Given the description of an element on the screen output the (x, y) to click on. 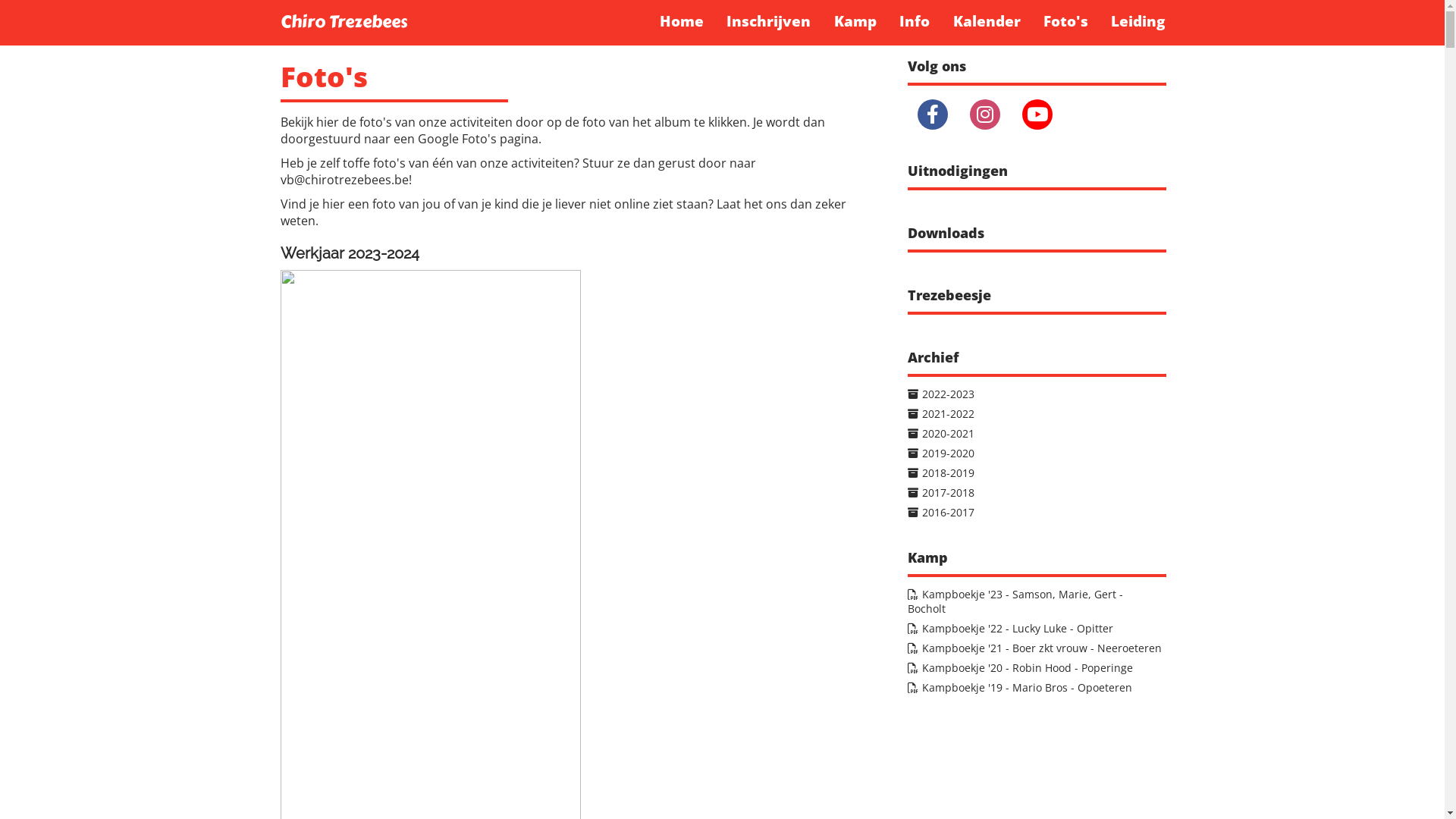
Home Element type: text (681, 21)
2016-2017 Element type: text (722, 511)
2020-2021 Element type: text (722, 432)
Foto's Element type: text (1065, 21)
Kalender Element type: text (986, 21)
Kamp Element type: text (855, 21)
2021-2022 Element type: text (722, 413)
2017-2018 Element type: text (722, 492)
2019-2020 Element type: text (722, 452)
2022-2023 Element type: text (722, 393)
2018-2019 Element type: text (722, 472)
Leiding Element type: text (1137, 21)
Kampboekje '20 - Robin Hood - Poperinge Element type: text (722, 667)
Info Element type: text (914, 21)
Kampboekje '22 - Lucky Luke - Opitter Element type: text (722, 627)
Kampboekje '23 - Samson, Marie, Gert - Bocholt Element type: text (722, 601)
Kampboekje '21 - Boer zkt vrouw - Neeroeteren Element type: text (722, 647)
Kampboekje '19 - Mario Bros - Opoeteren Element type: text (722, 686)
Inschrijven Element type: text (768, 21)
